Given the description of an element on the screen output the (x, y) to click on. 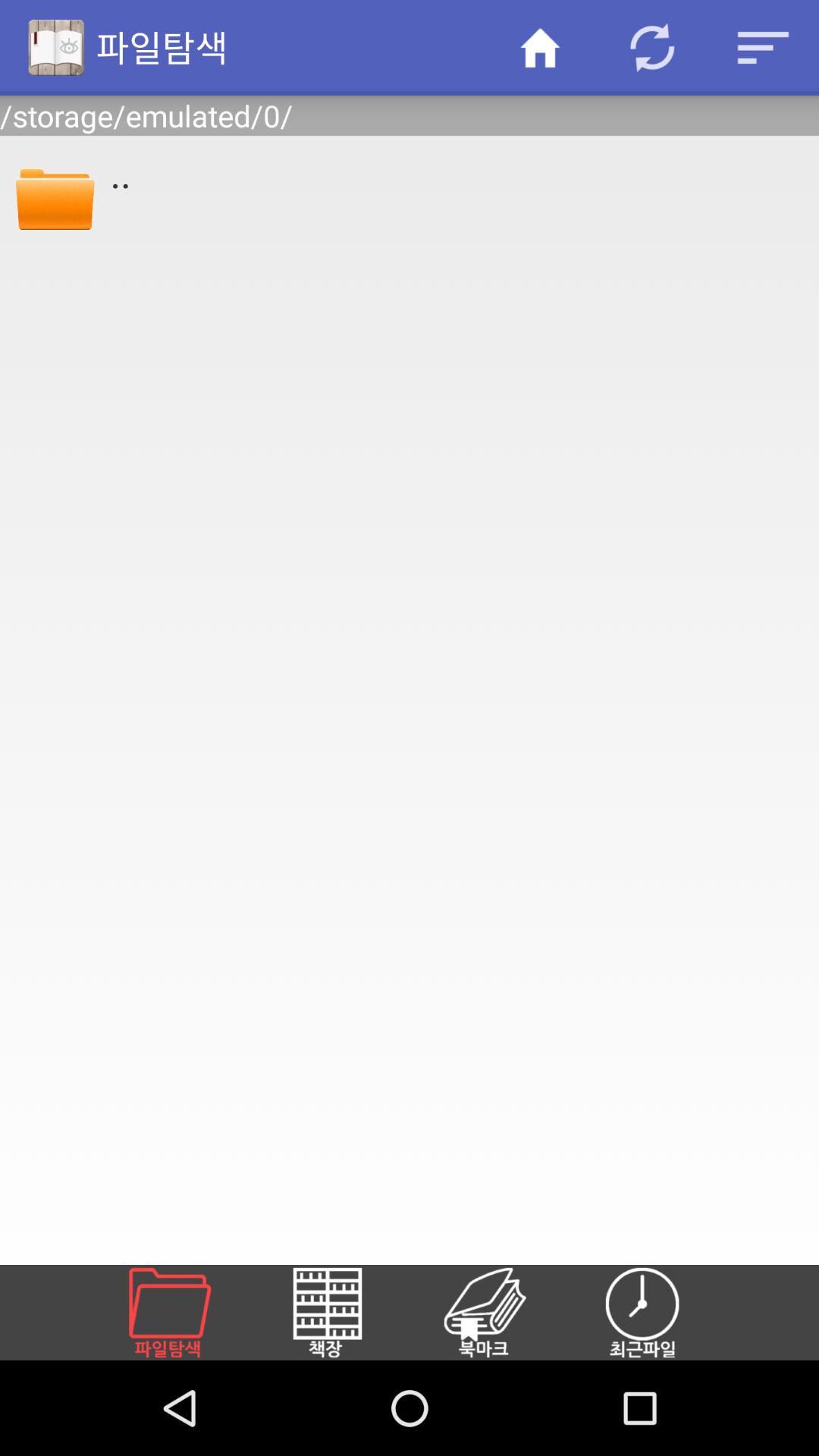
jump until the .. item (454, 172)
